Given the description of an element on the screen output the (x, y) to click on. 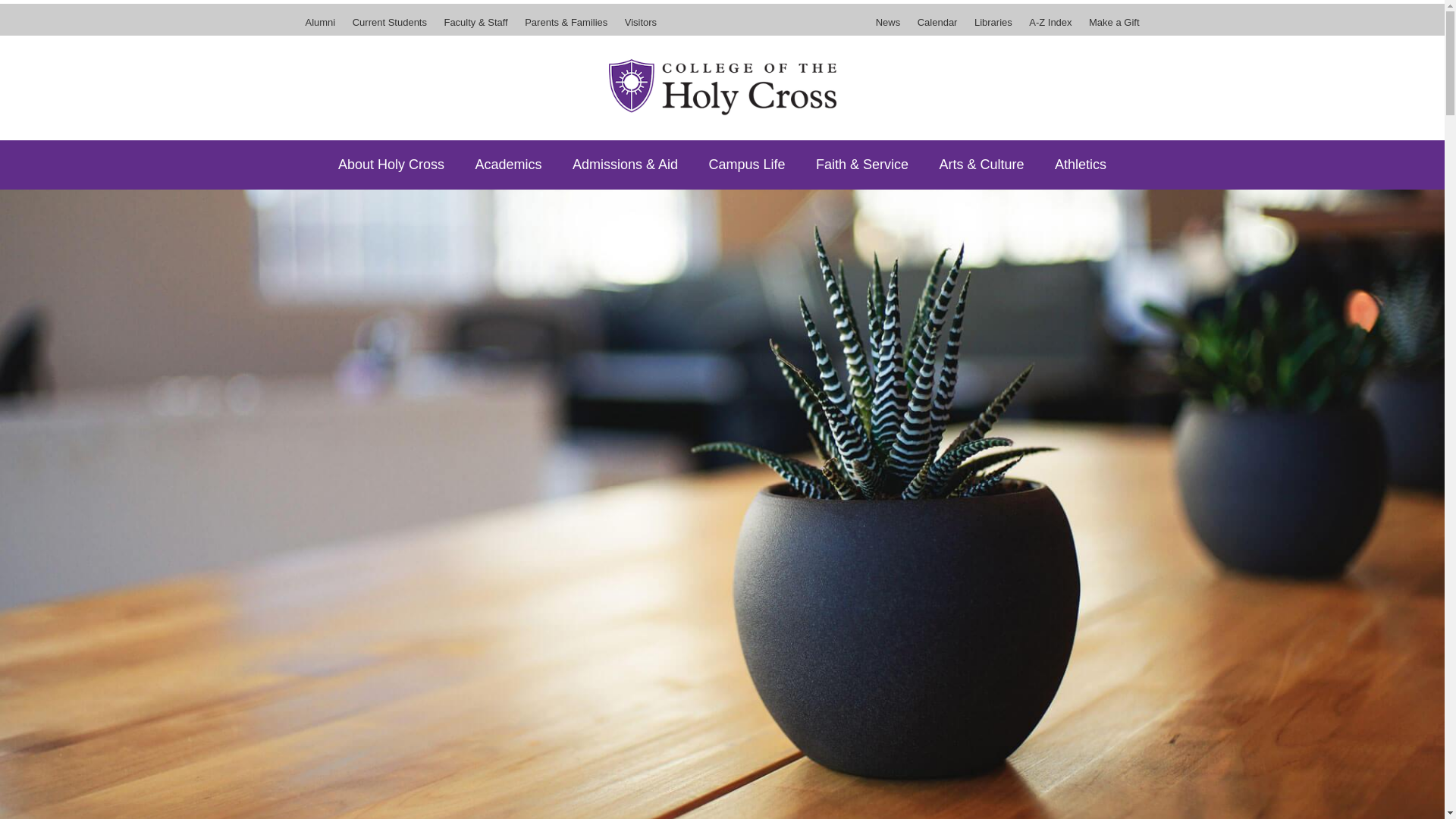
Calendar (937, 27)
Make a Gift (1109, 27)
College of the Holy Cross Home (721, 86)
Current Students (389, 27)
Visitors (636, 27)
A-Z Index (1050, 27)
Libraries (993, 27)
About Holy Cross (391, 164)
News (891, 27)
Alumni (323, 27)
Academics (507, 164)
